Given the description of an element on the screen output the (x, y) to click on. 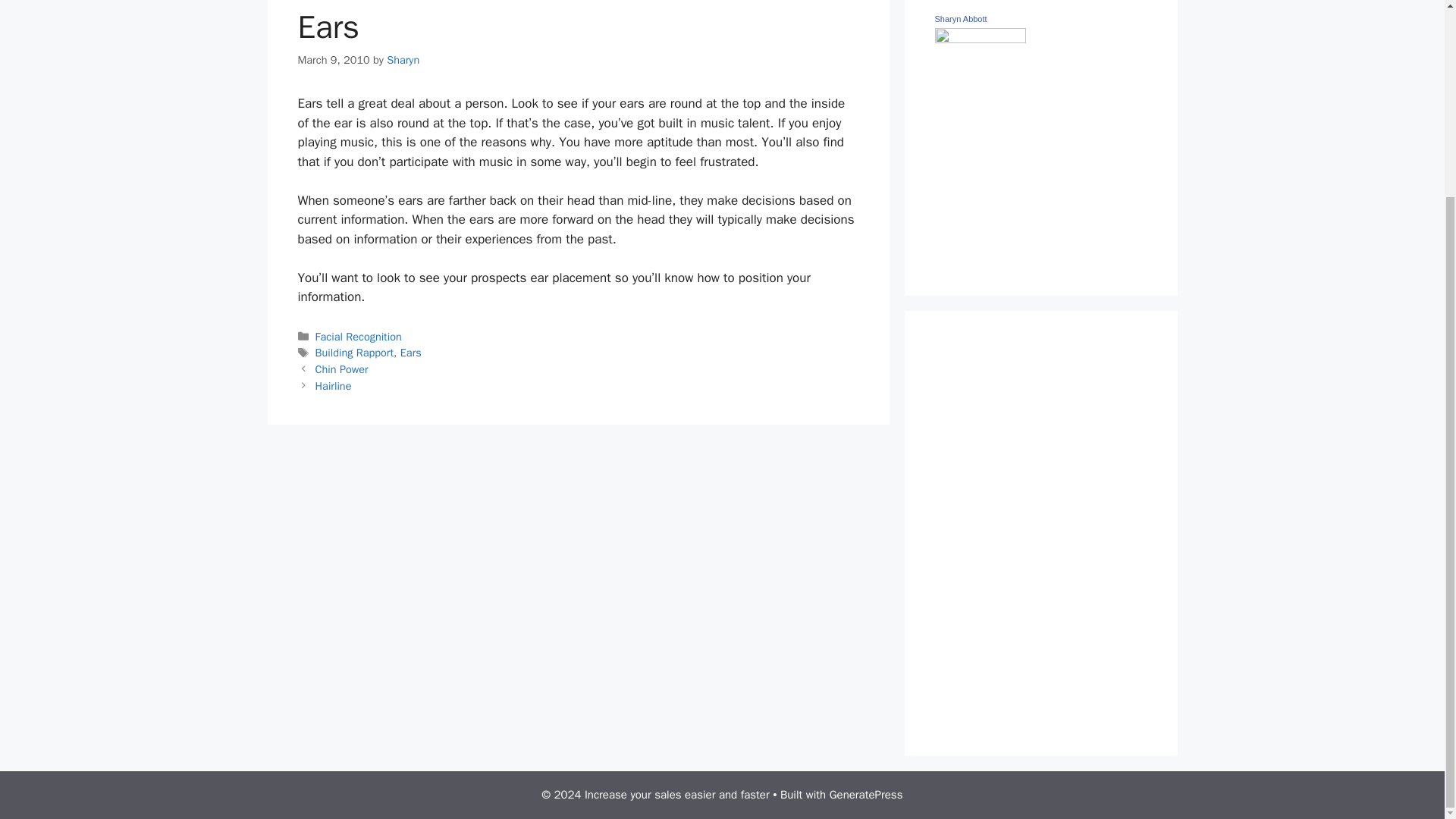
Ears (411, 352)
Hairline (333, 386)
Chin Power (341, 368)
Sharyn Abbott (960, 18)
Facial Recognition (358, 336)
View all posts by Sharyn (403, 59)
GeneratePress (865, 794)
Sharyn (403, 59)
Building Rapport (354, 352)
Sharyn Abbott (979, 38)
